Given the description of an element on the screen output the (x, y) to click on. 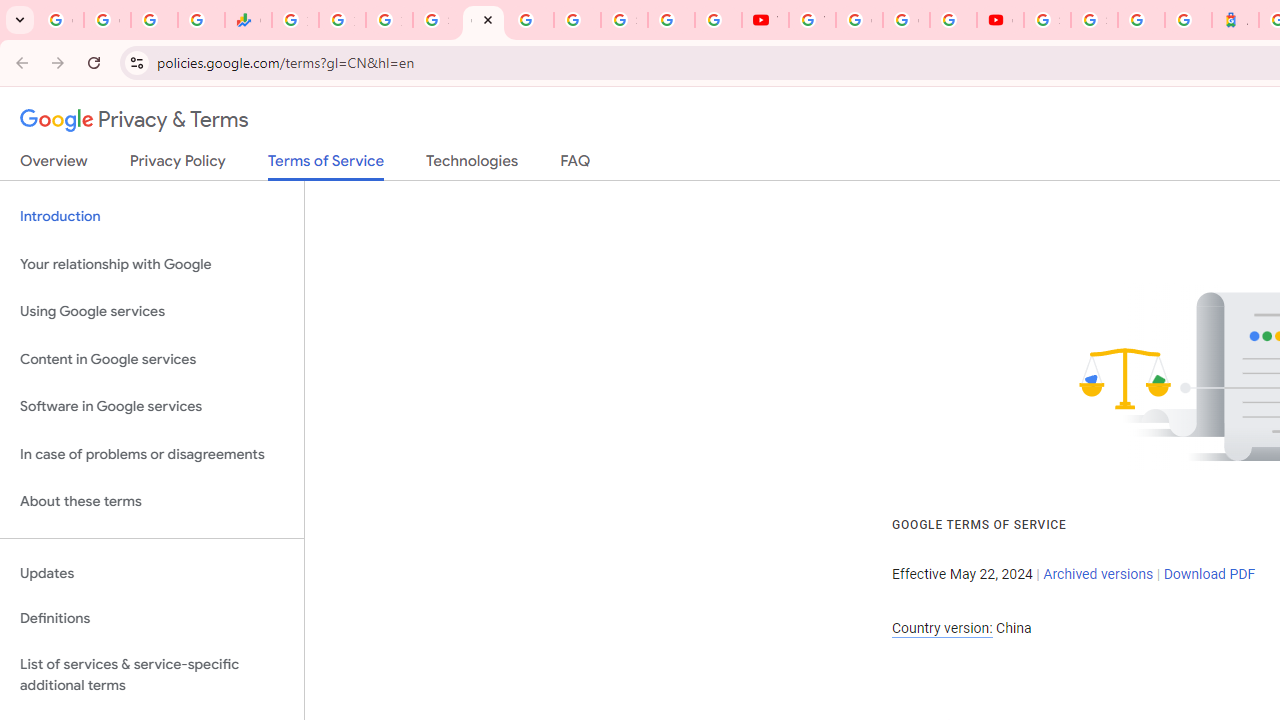
Content Creator Programs & Opportunities - YouTube Creators (999, 20)
Sign in - Google Accounts (436, 20)
Software in Google services (152, 407)
